Given the description of an element on the screen output the (x, y) to click on. 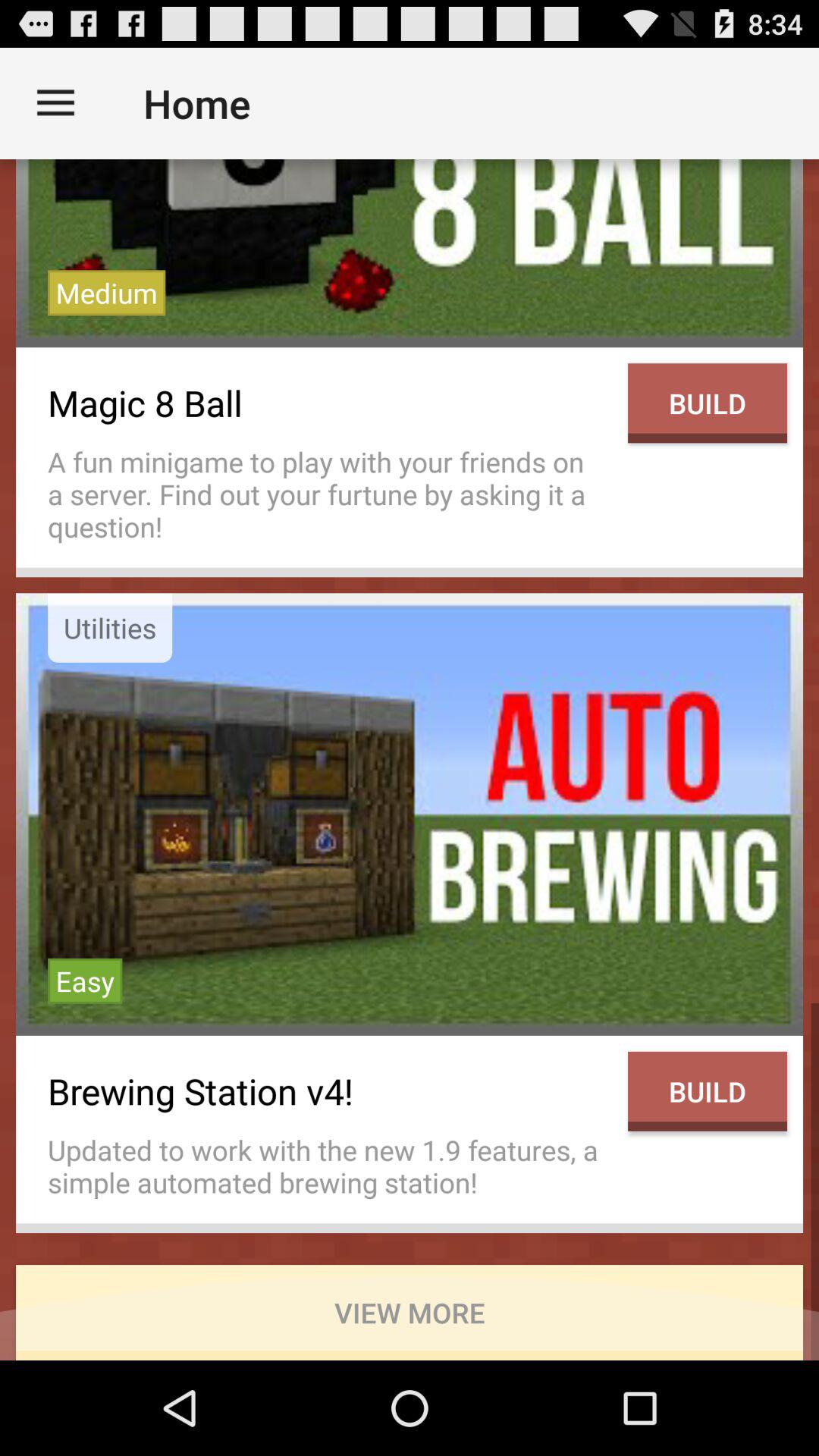
press the icon to the left of home app (55, 103)
